Given the description of an element on the screen output the (x, y) to click on. 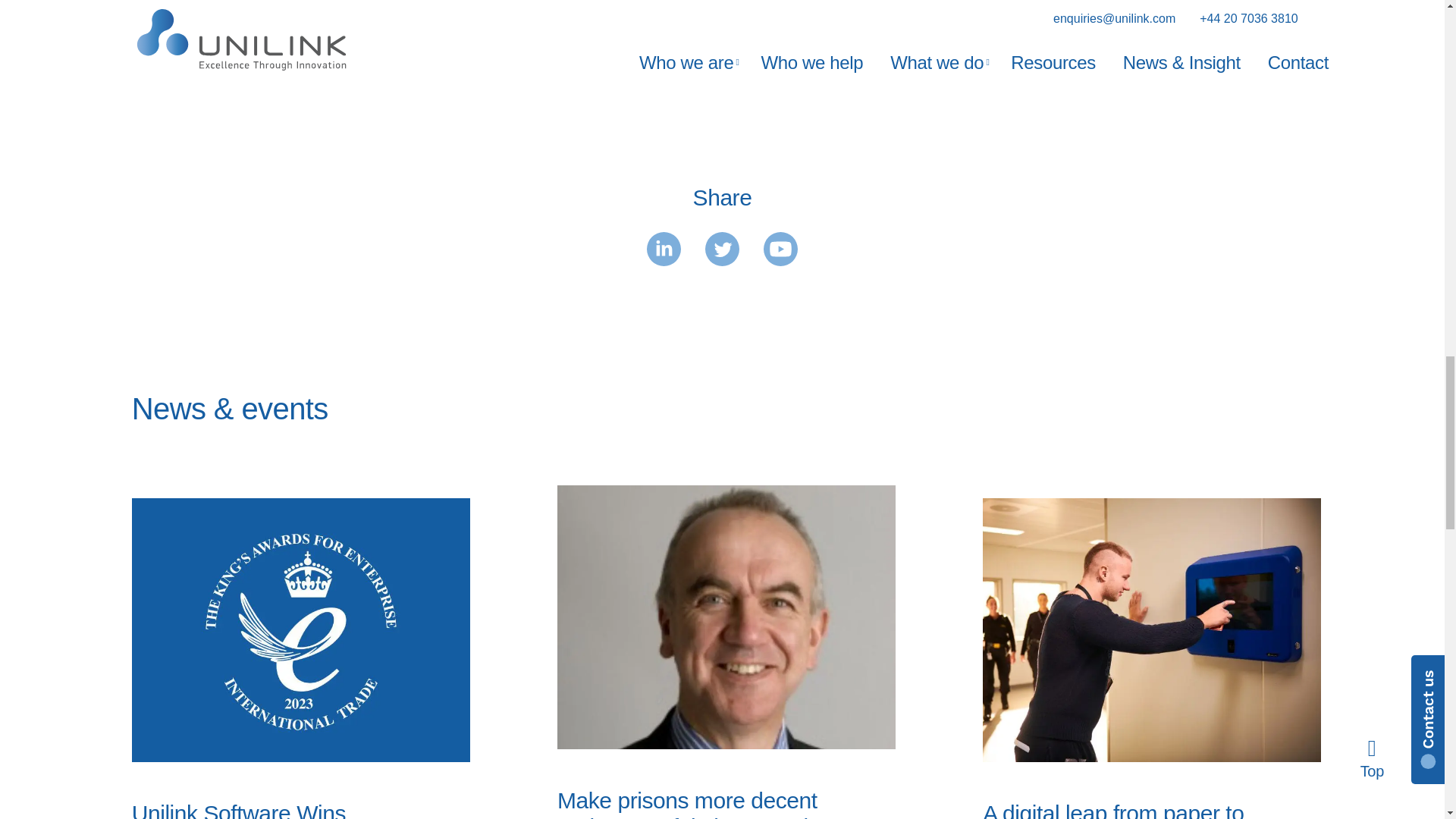
Back to news (733, 68)
